Given the description of an element on the screen output the (x, y) to click on. 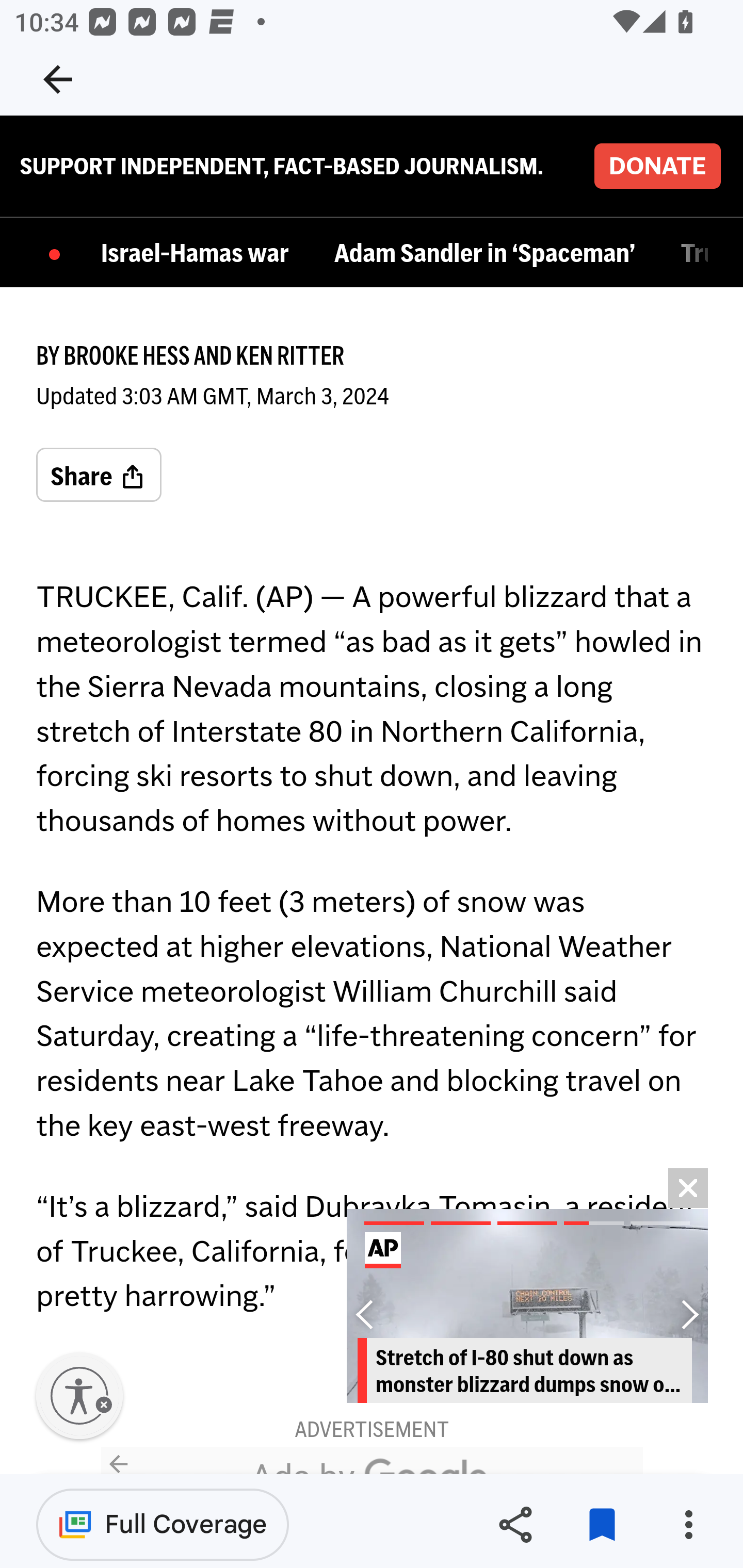
Navigate up (57, 79)
DONATE (657, 167)
Israel-Hamas war (200, 254)
Adam Sandler in ‘Spaceman’ (489, 254)
Share (99, 476)
Enable accessibility (79, 1396)
Share (514, 1524)
Remove from saved stories (601, 1524)
More options (688, 1524)
Full Coverage (162, 1524)
